Given the description of an element on the screen output the (x, y) to click on. 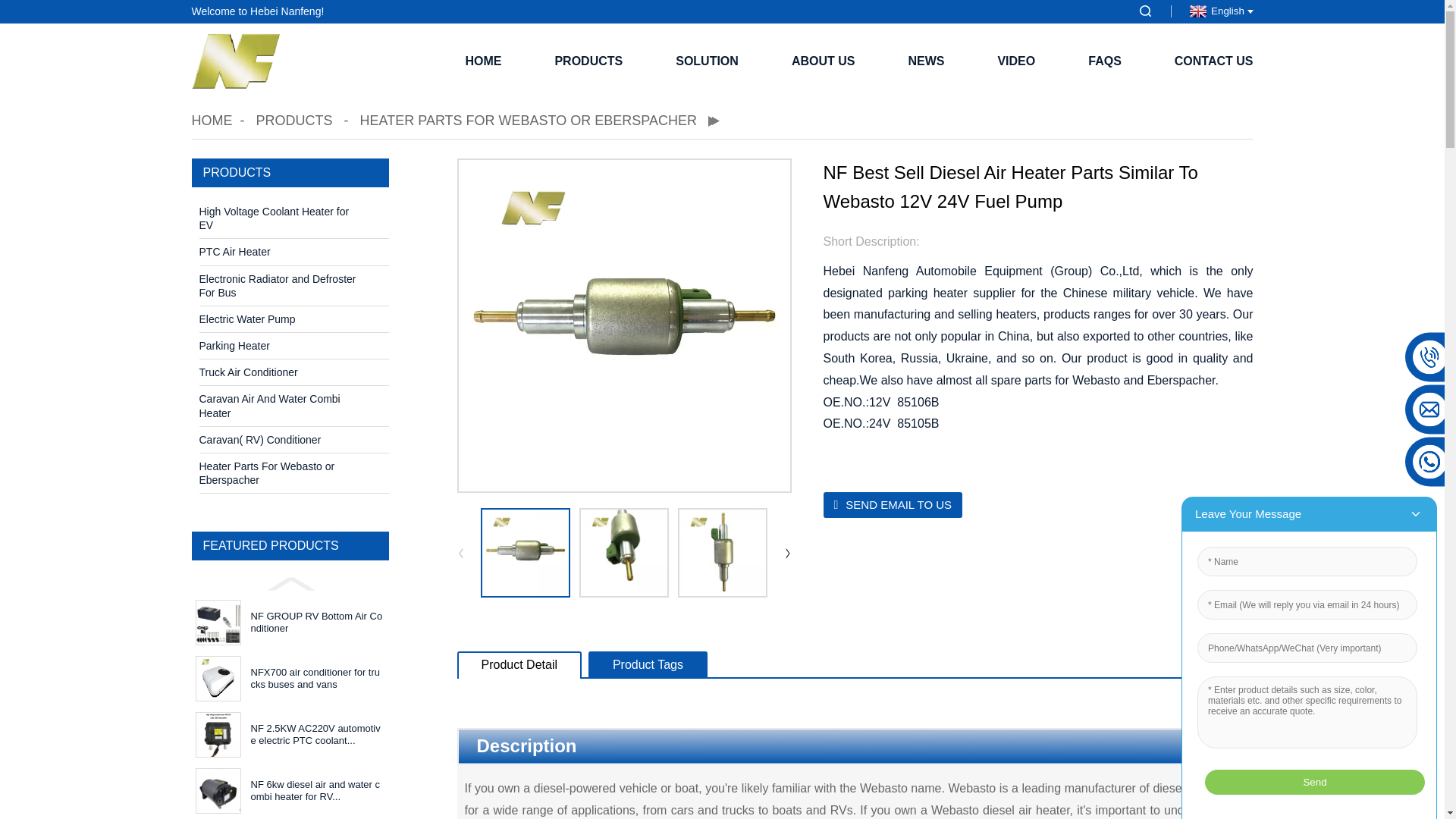
English (1219, 10)
